Given the description of an element on the screen output the (x, y) to click on. 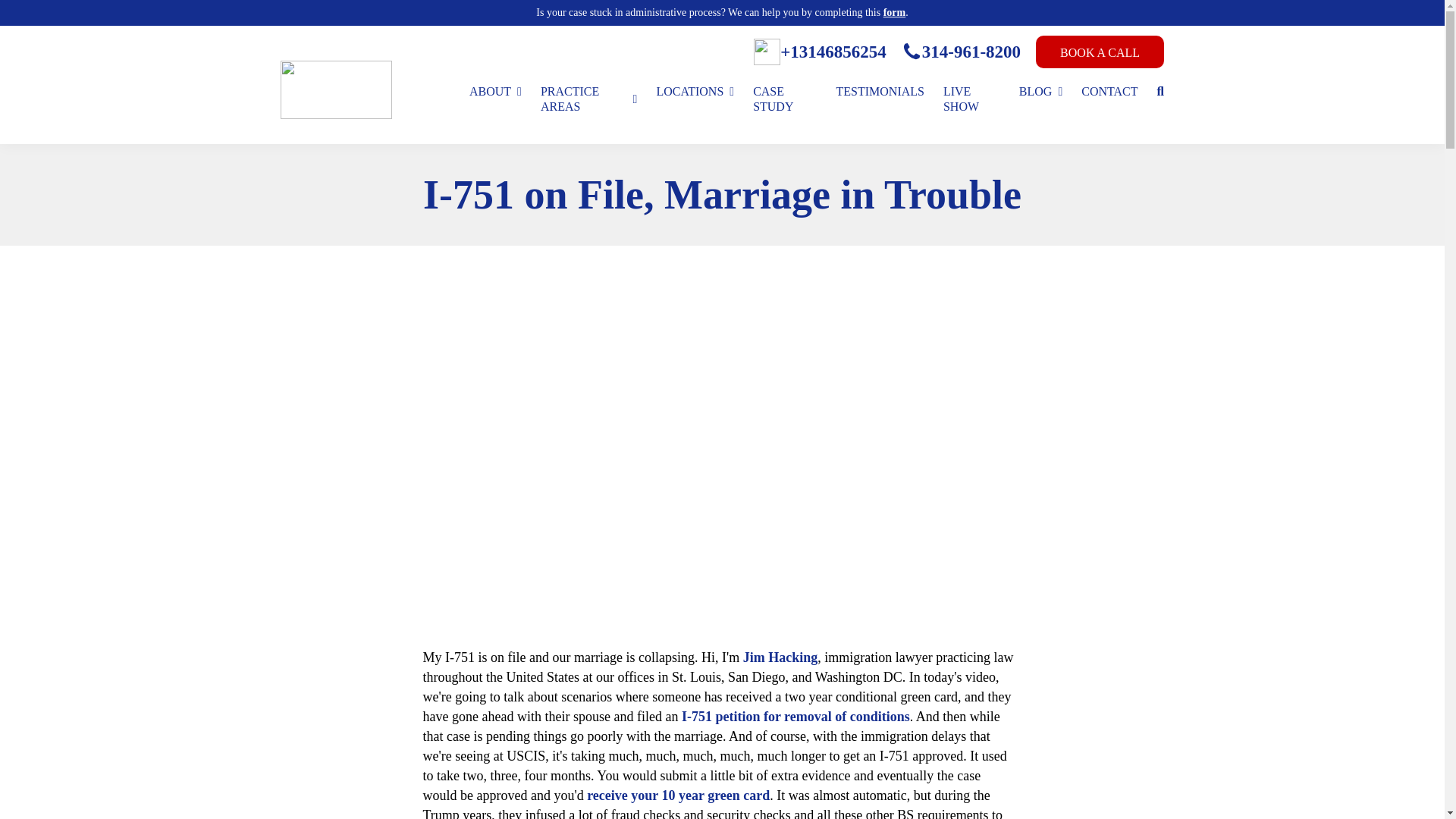
LOCATIONS (694, 91)
314-961-8200 (960, 52)
CONTACT (1109, 91)
BOOK A CALL (1099, 51)
BLOG (1040, 91)
form (894, 12)
TESTIMONIALS (879, 91)
PRACTICE AREAS (588, 98)
ABOUT (494, 91)
